Given the description of an element on the screen output the (x, y) to click on. 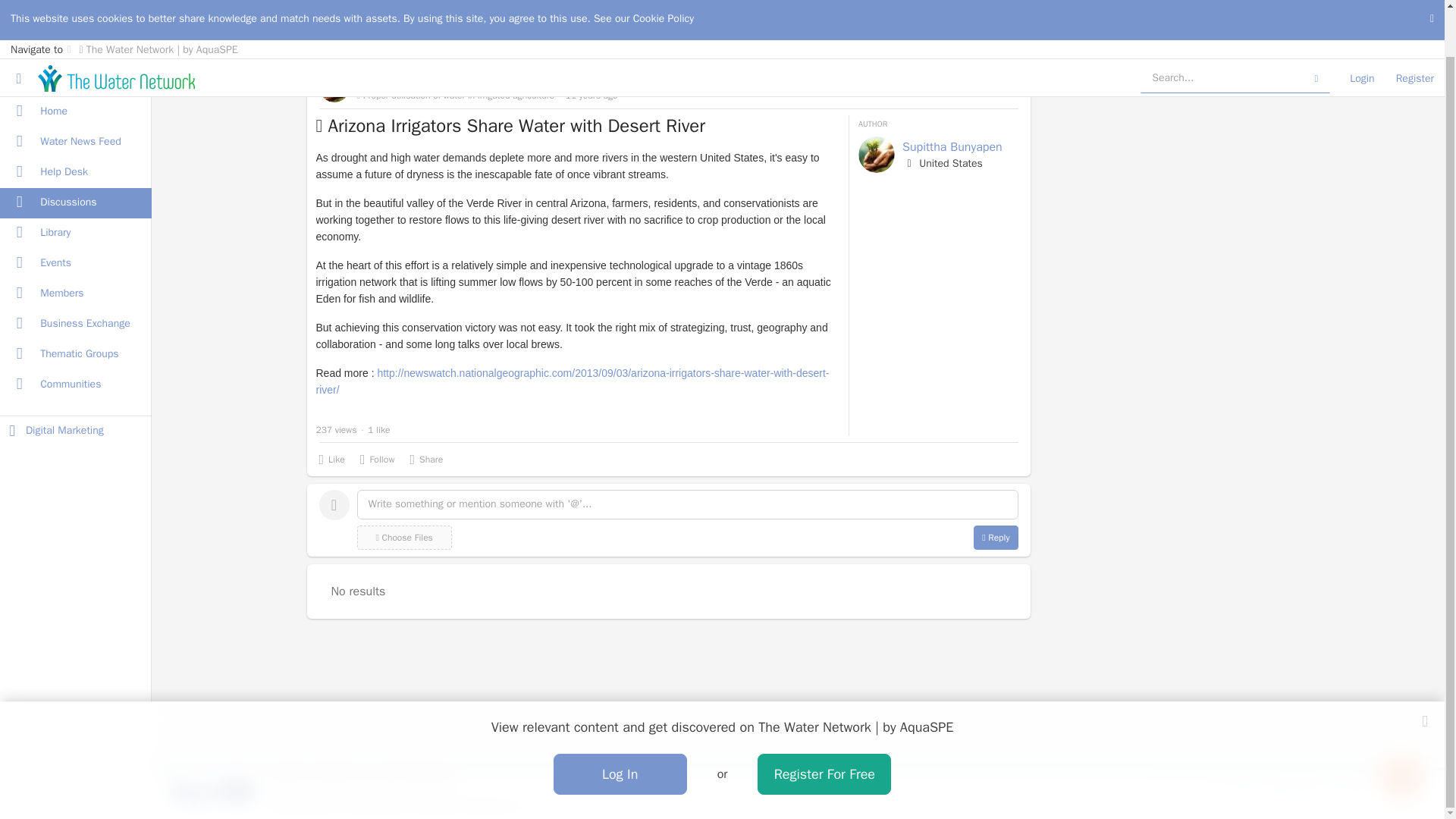
Sep 15, 2013 (591, 94)
ABOUT (1236, 786)
Like (330, 459)
Create (1401, 726)
TWITTER - THE WATER NETWORK (1174, 785)
Login (1361, 28)
Reply (995, 537)
CONTACT (1404, 786)
Follow (376, 459)
Like (330, 459)
